Given the description of an element on the screen output the (x, y) to click on. 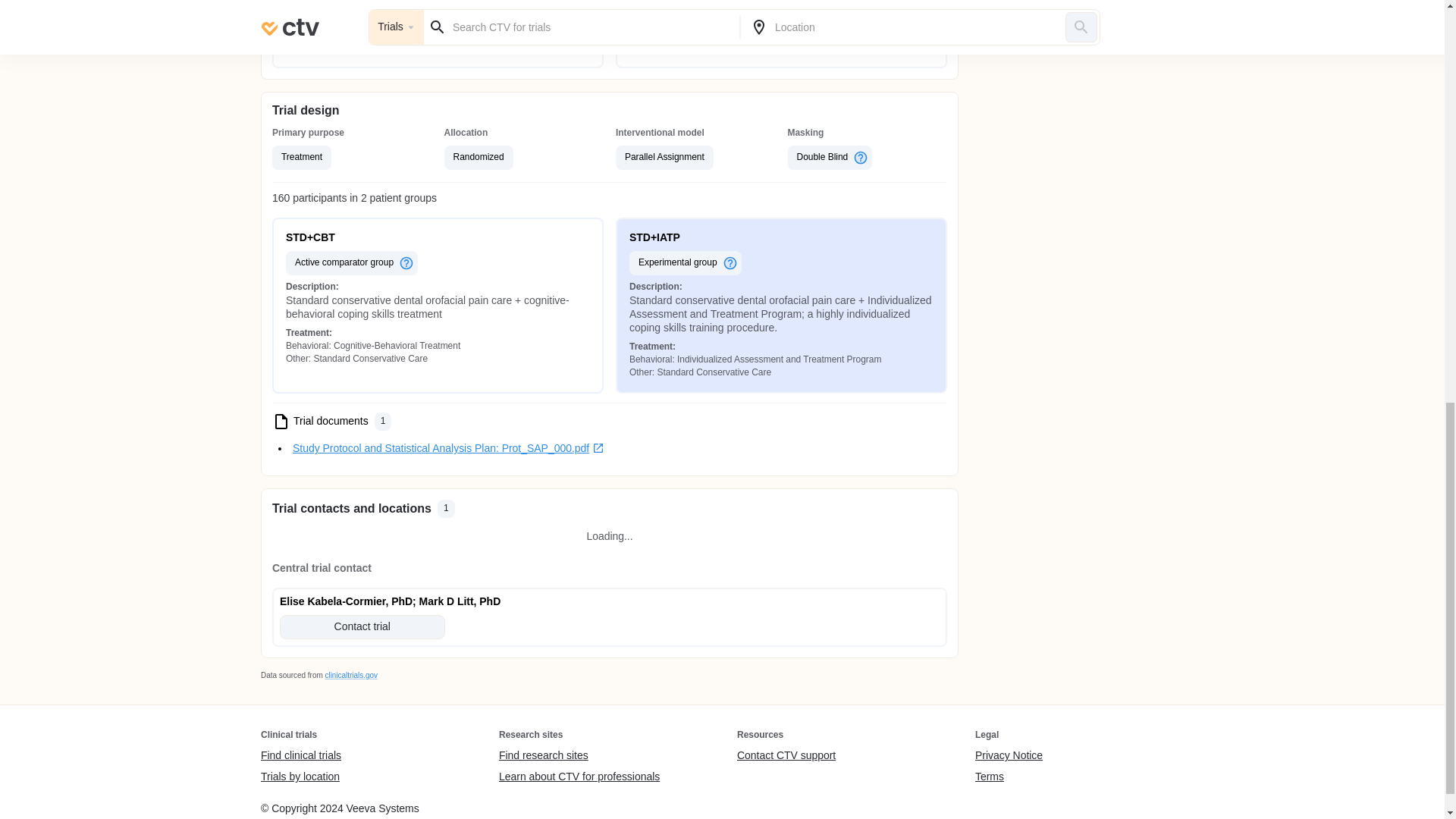
Learn about CTV for professionals (579, 776)
Terms (1008, 776)
Trials by location (300, 776)
Contact trial (362, 627)
Contact CTV support (785, 755)
Privacy Notice (1008, 755)
clinicaltrials.gov (350, 674)
Find clinical trials (300, 755)
Find research sites (579, 755)
